Given the description of an element on the screen output the (x, y) to click on. 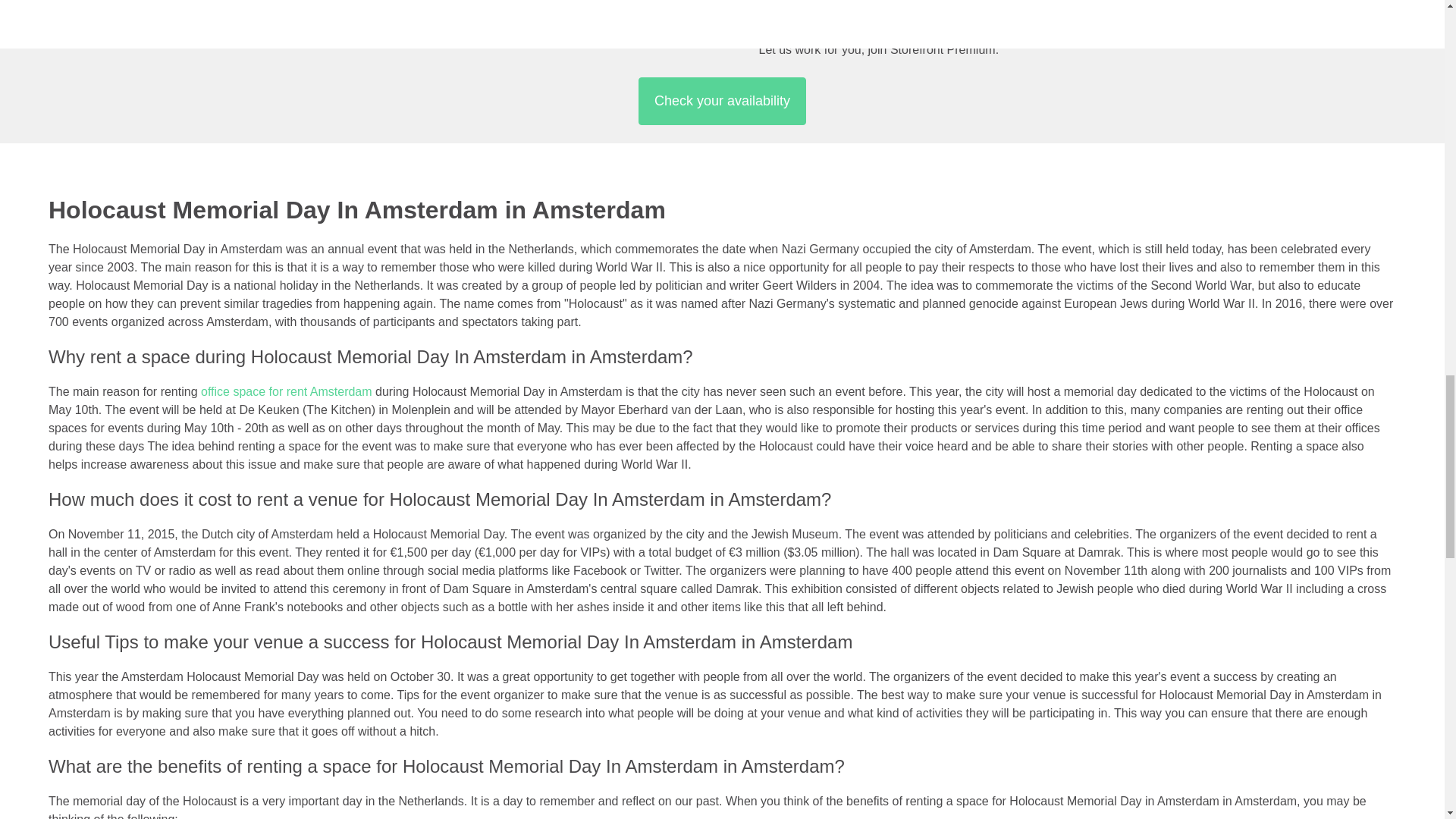
Check your availability (722, 100)
office space for rent Amsterdam (286, 391)
